Given the description of an element on the screen output the (x, y) to click on. 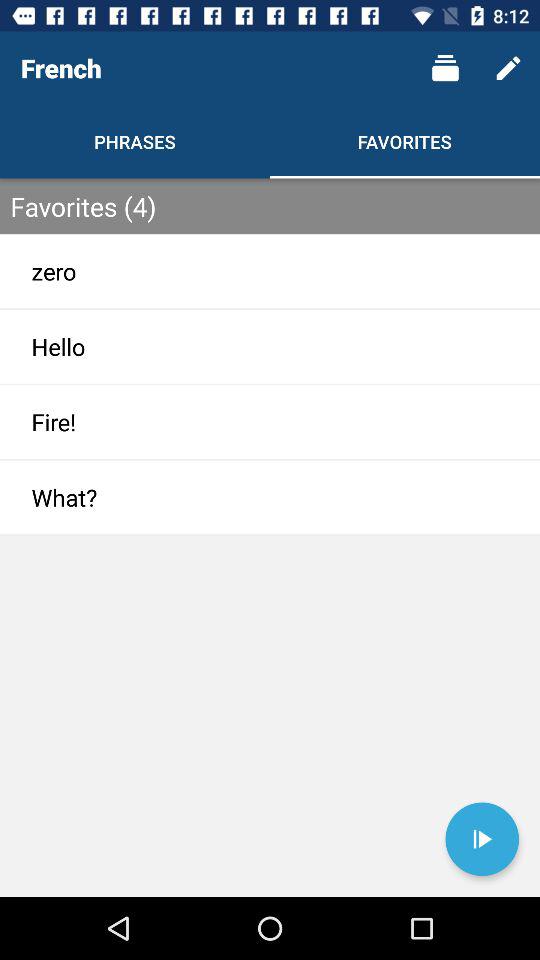
turn off icon next to french item (444, 67)
